Given the description of an element on the screen output the (x, y) to click on. 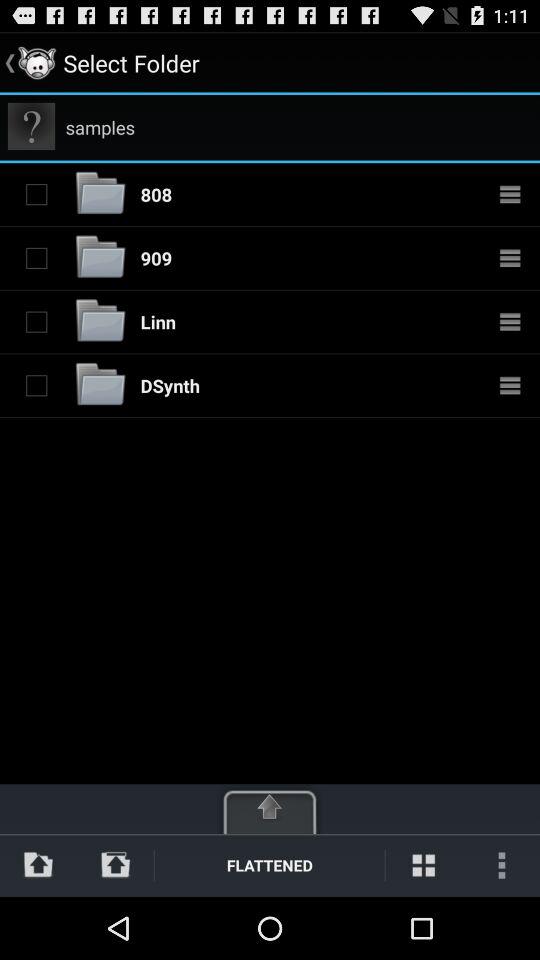
open folder options (510, 193)
